Given the description of an element on the screen output the (x, y) to click on. 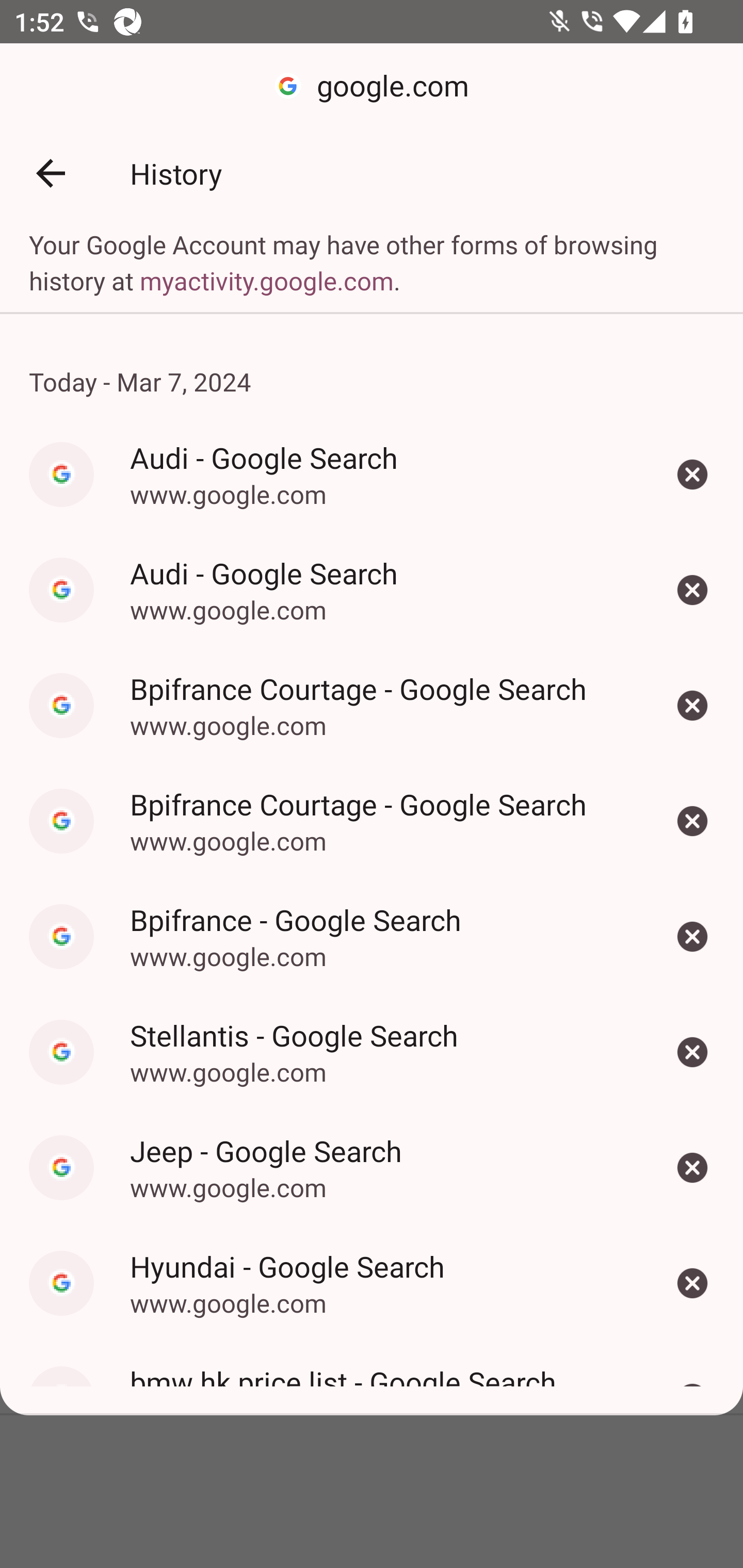
google.com (371, 86)
Back (50, 173)
Audi - Google Search Remove (692, 474)
Audi - Google Search Remove (692, 589)
Bpifrance Courtage - Google Search Remove (692, 705)
Bpifrance Courtage - Google Search Remove (692, 821)
Bpifrance - Google Search Remove (692, 936)
Stellantis - Google Search Remove (692, 1052)
Jeep - Google Search Remove (692, 1168)
Hyundai - Google Search Remove (692, 1283)
bmw hk price list - Google Search Remove (692, 1377)
